Given the description of an element on the screen output the (x, y) to click on. 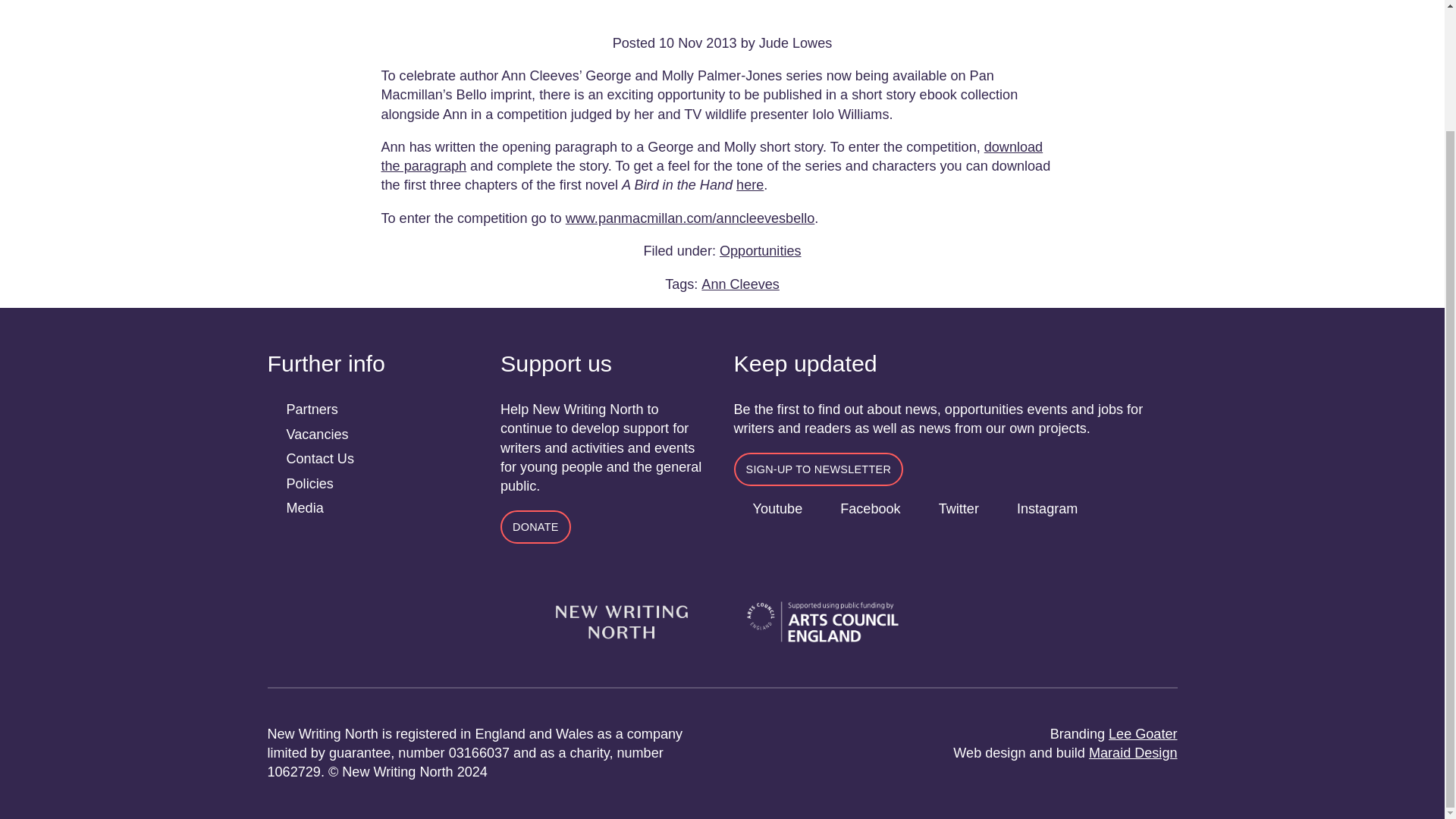
here (749, 184)
download the paragraph (711, 156)
Opportunities (760, 250)
